Given the description of an element on the screen output the (x, y) to click on. 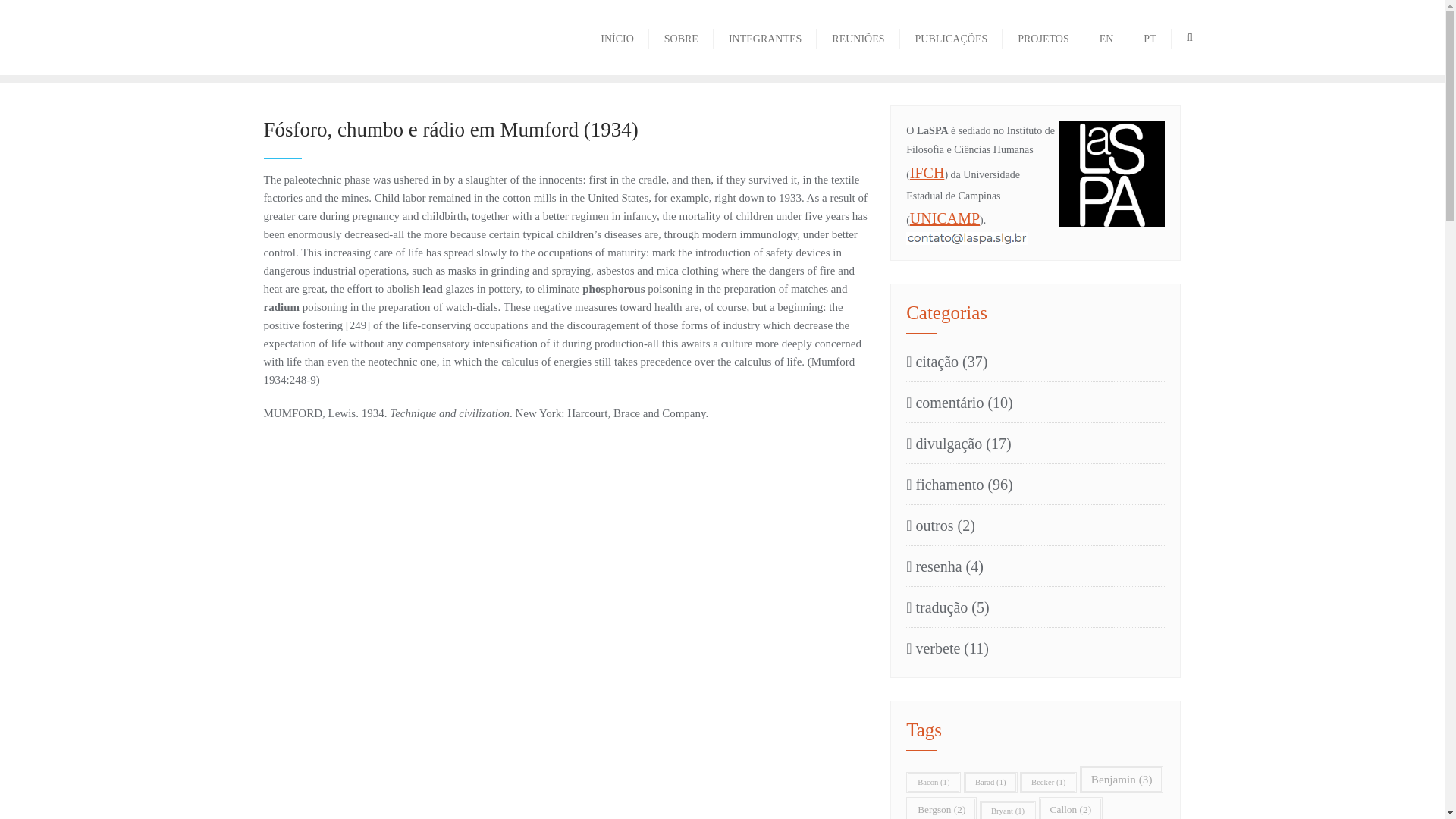
outros (929, 525)
IFCH (927, 172)
UNICAMP (944, 217)
INTEGRANTES (764, 37)
fichamento (944, 484)
resenha (932, 566)
PROJETOS (1043, 37)
SOBRE (681, 37)
verbete (932, 648)
